Given the description of an element on the screen output the (x, y) to click on. 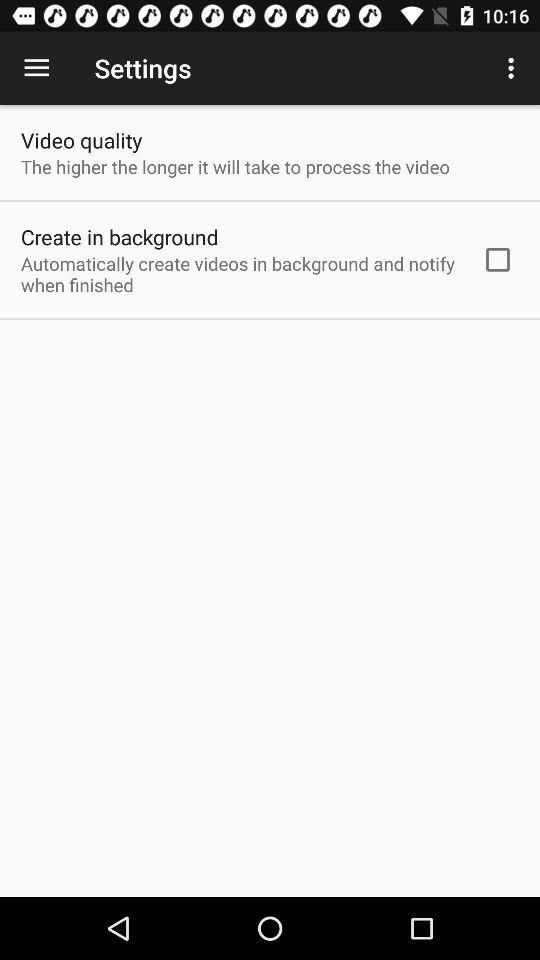
launch the item above the the higher the icon (81, 139)
